Given the description of an element on the screen output the (x, y) to click on. 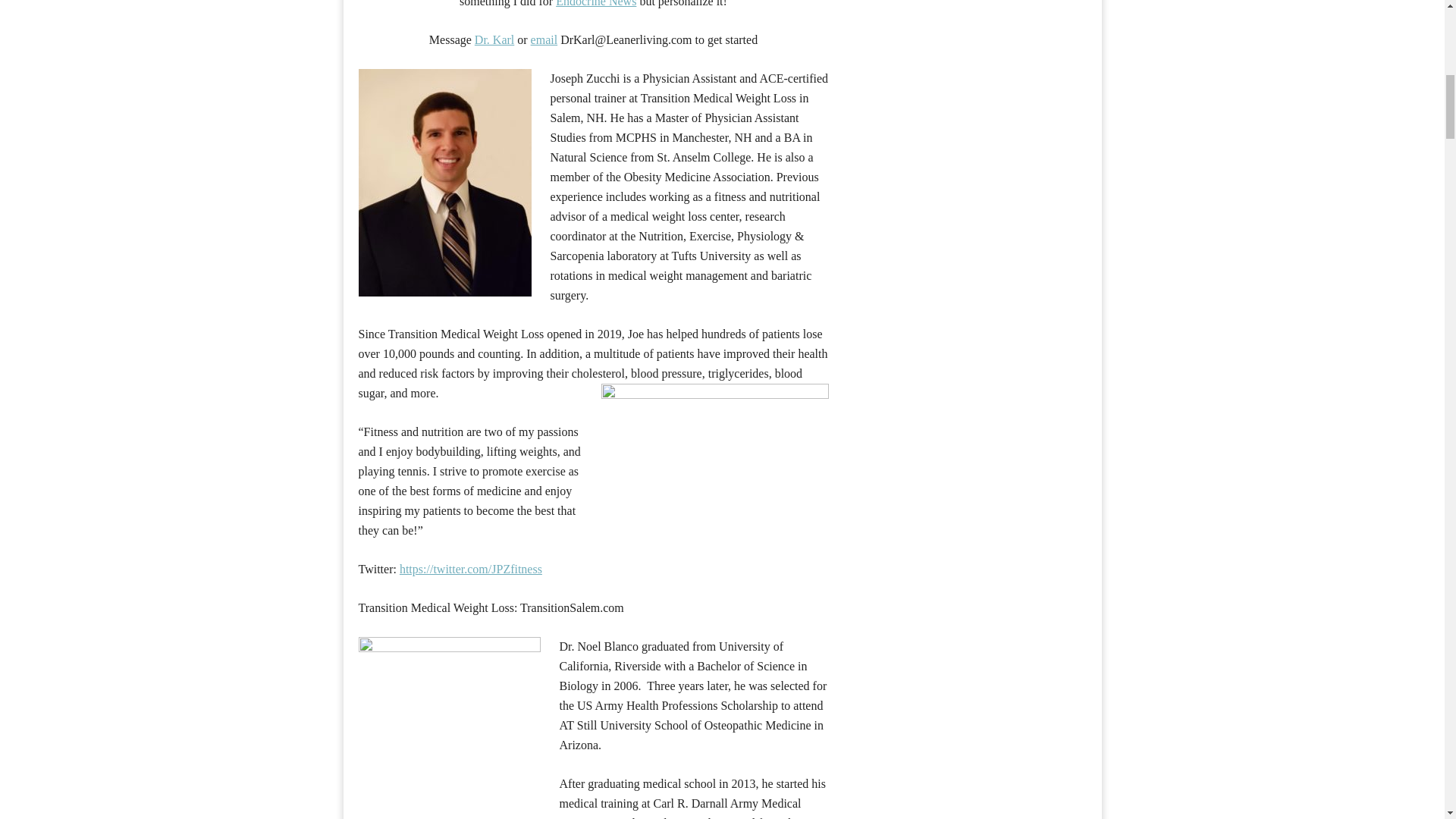
Dr. Karl (493, 39)
email (544, 39)
Endocrine News (596, 3)
